Given the description of an element on the screen output the (x, y) to click on. 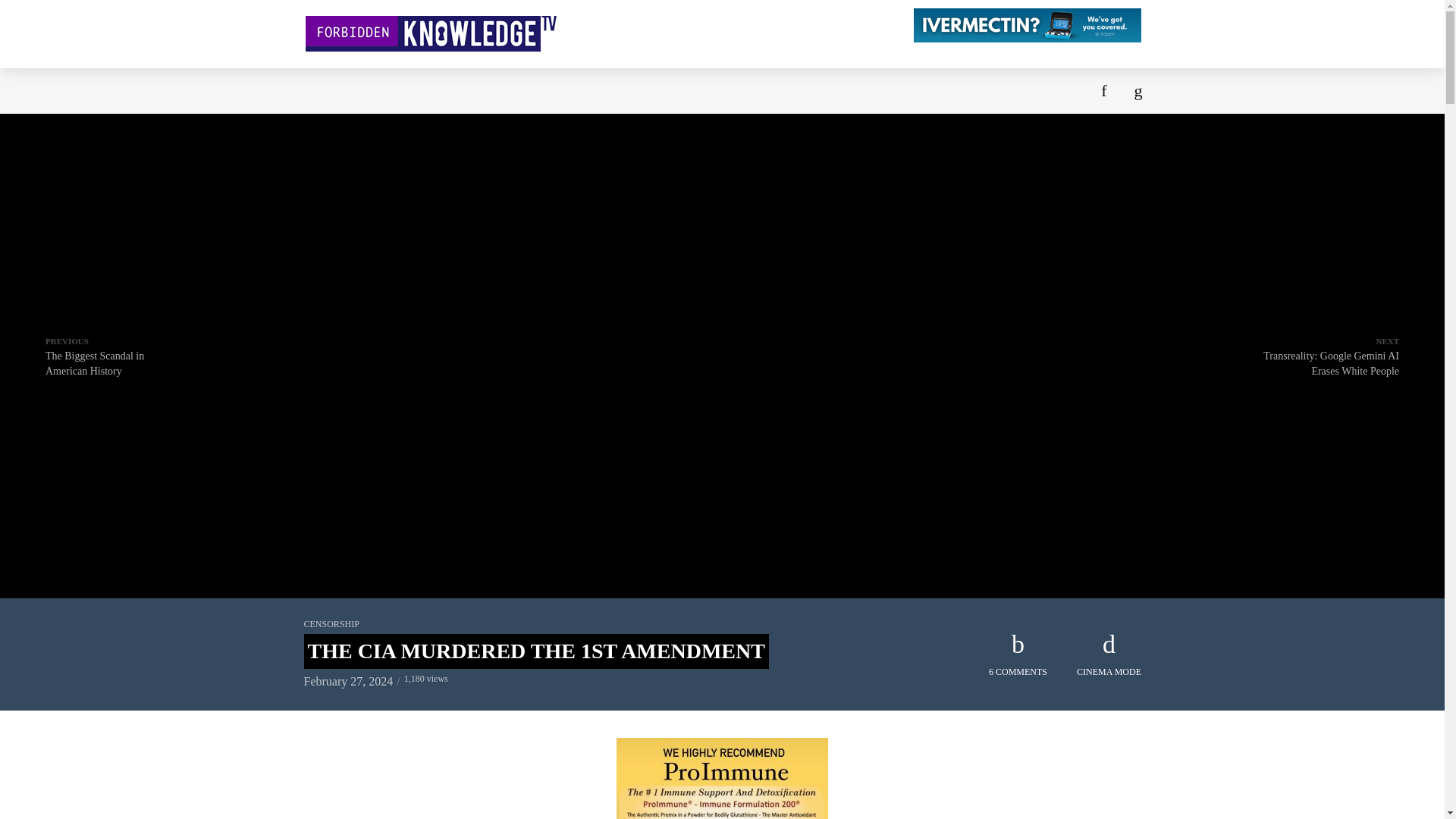
CENSORSHIP (330, 624)
CINEMA MODE (1108, 654)
6 COMMENTS (1017, 654)
